Given the description of an element on the screen output the (x, y) to click on. 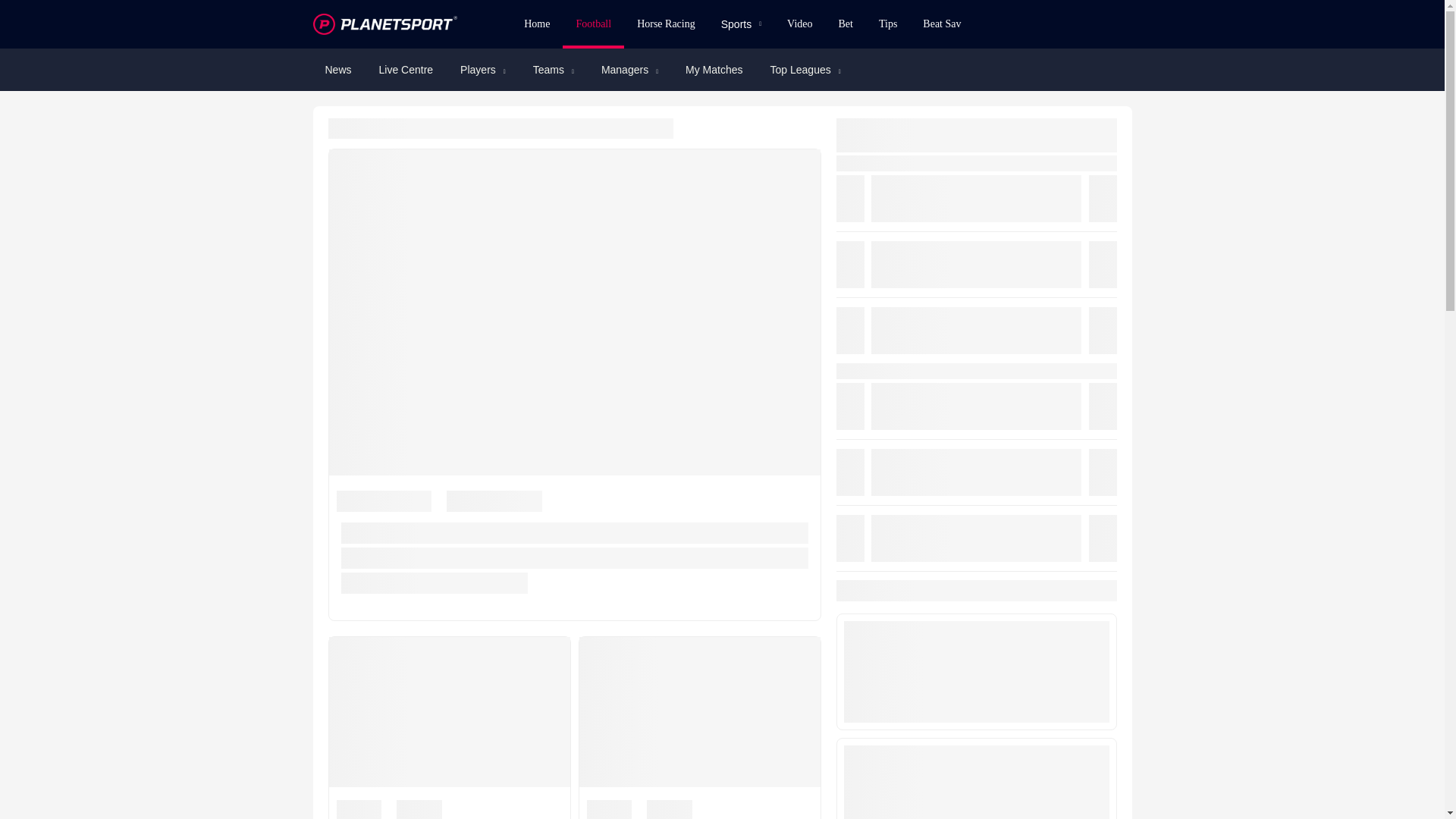
Video (799, 24)
Horse Racing (665, 24)
News (337, 69)
My Matches (713, 69)
Football (593, 24)
Home (536, 24)
Beat Sav (942, 24)
Live Centre (405, 69)
Tips (888, 24)
